Given the description of an element on the screen output the (x, y) to click on. 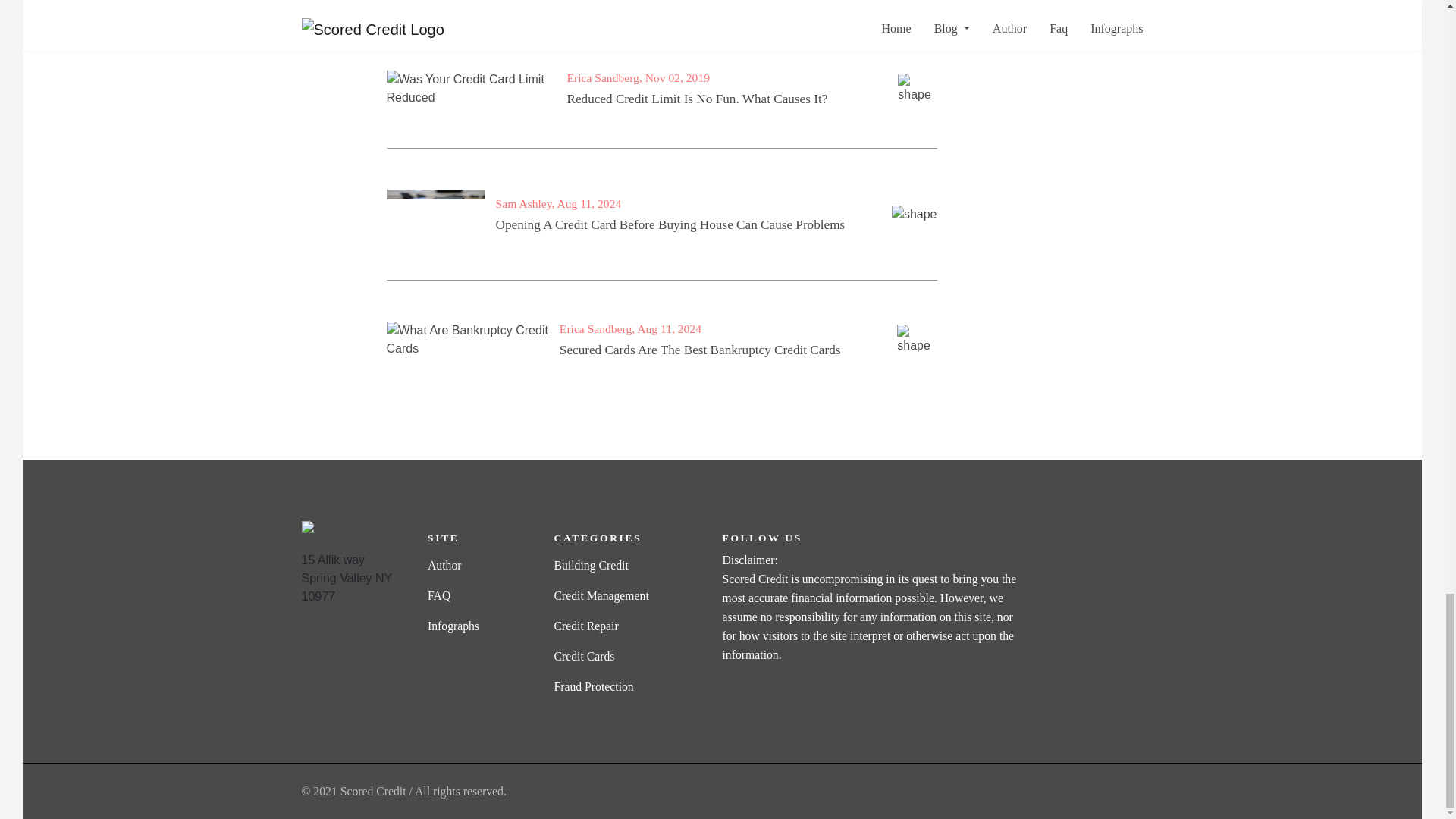
Scored Credit Logo (360, 529)
Was Your Credit Card Limit Reduced (477, 88)
Secured Cards Are The Best Bankruptcy Credit Cards (700, 350)
Sam Ashley, Aug 11, 2024 (558, 203)
Reduced Credit Limit Is No Fun. What Causes It? (696, 98)
Erica Sandberg, Aug 11, 2024 (630, 328)
Erica Sandberg, Nov 02, 2019 (638, 77)
Build A House 4503738 1920 (435, 214)
Credit Repair (585, 625)
What Are Bankruptcy Credit Cards (473, 339)
